Given the description of an element on the screen output the (x, y) to click on. 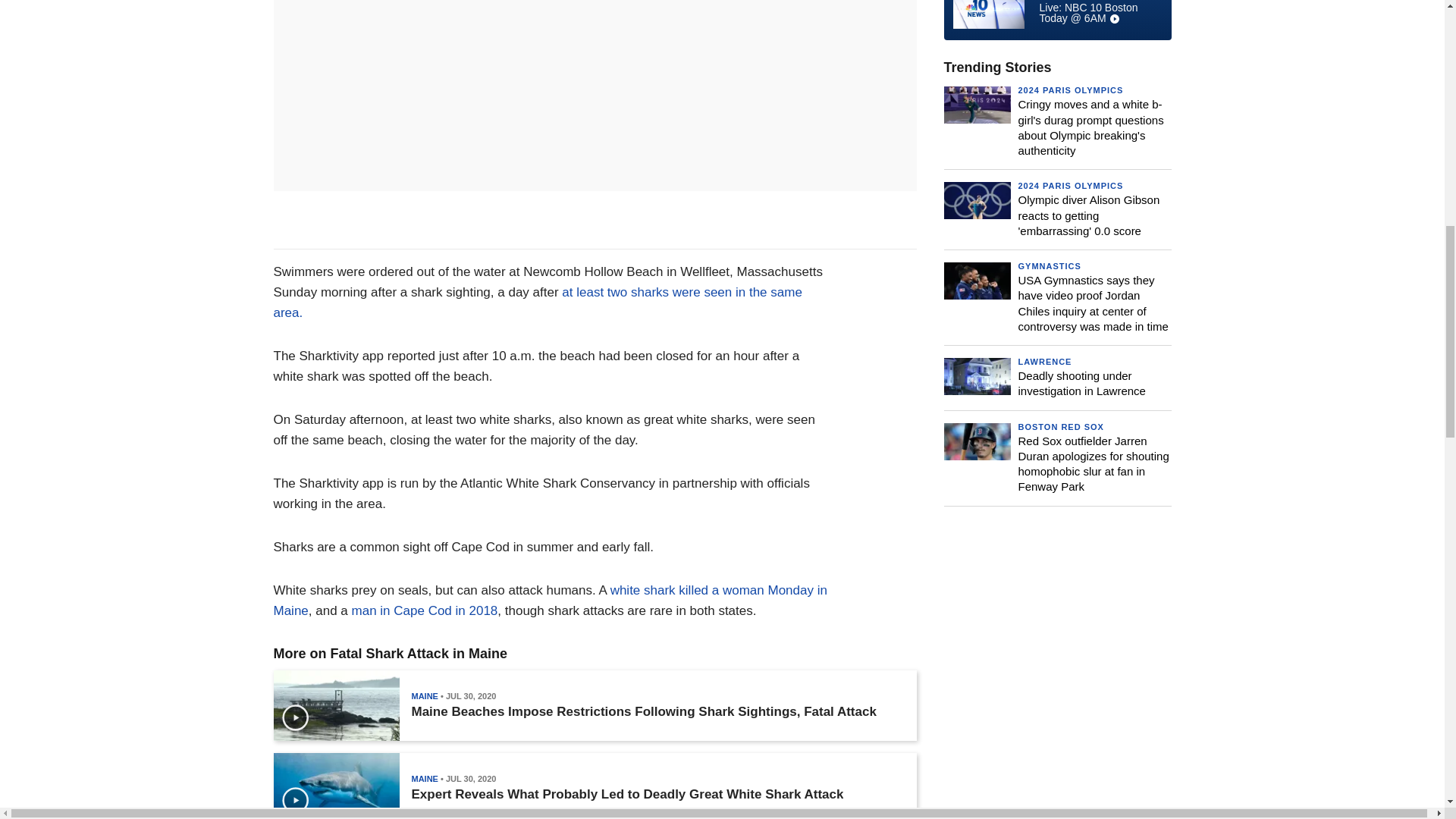
man in Cape Cod in 2018 (424, 610)
MAINE (424, 777)
at least two sharks were seen in the same area. (537, 302)
white shark killed a woman Monday in Maine (550, 600)
MAINE (424, 696)
